Given the description of an element on the screen output the (x, y) to click on. 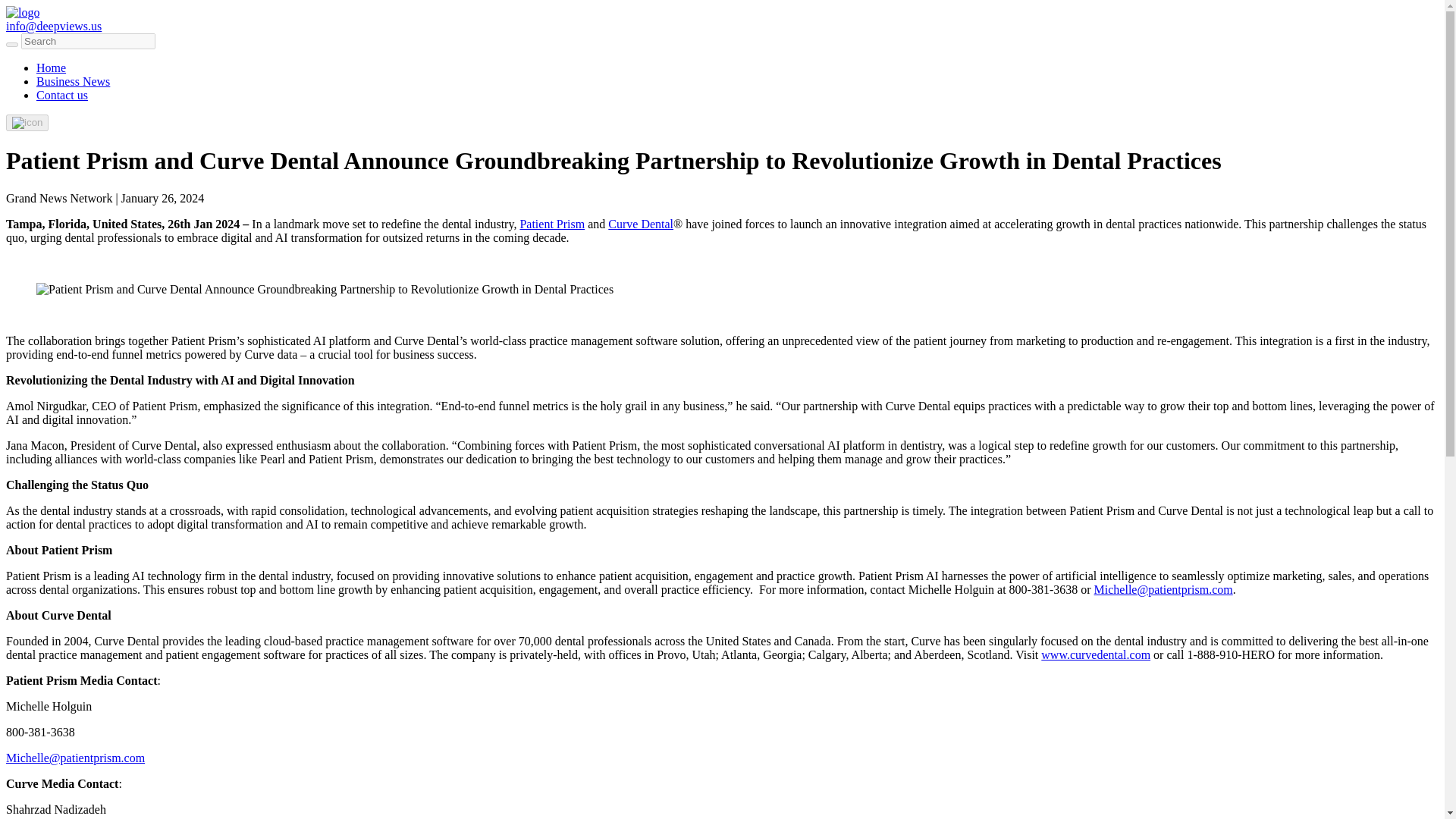
Patient Prism (552, 223)
Home (50, 67)
Business News (73, 81)
Curve Dental (640, 223)
www.curvedental.com (1095, 654)
Contact us (61, 94)
